Given the description of an element on the screen output the (x, y) to click on. 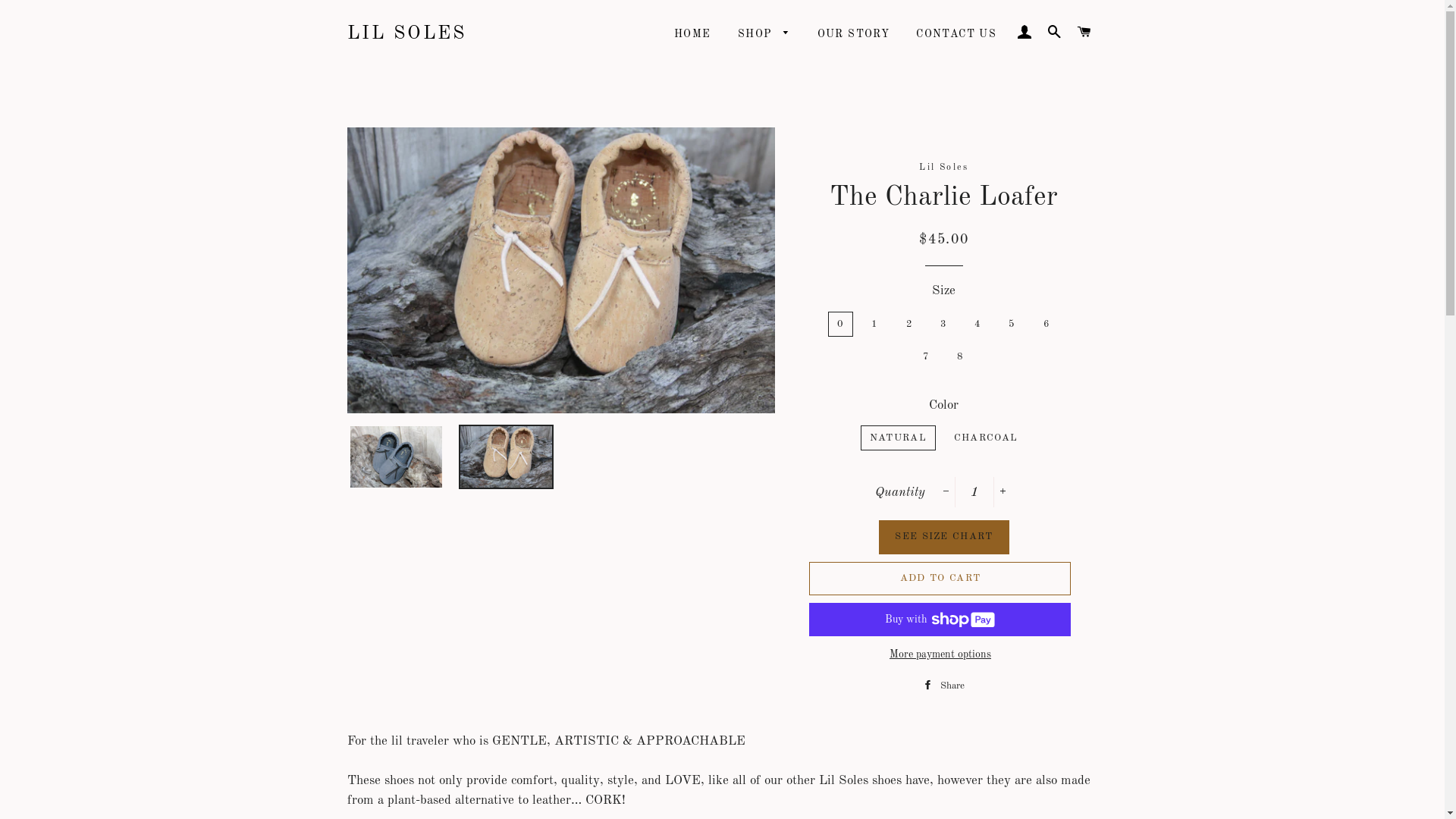
SEE SIZE CHART Element type: text (943, 536)
+ Element type: text (1002, 491)
ADD TO CART Element type: text (939, 578)
SHOP Element type: text (764, 34)
LOG IN Element type: text (1024, 33)
More payment options Element type: text (939, 654)
CONTACT US Element type: text (955, 34)
CART Element type: text (1084, 33)
LIL SOLES Element type: text (407, 33)
HOME Element type: text (692, 34)
Share
Share on Facebook Element type: text (943, 685)
OUR STORY Element type: text (853, 34)
SEARCH Element type: text (1054, 33)
